Given the description of an element on the screen output the (x, y) to click on. 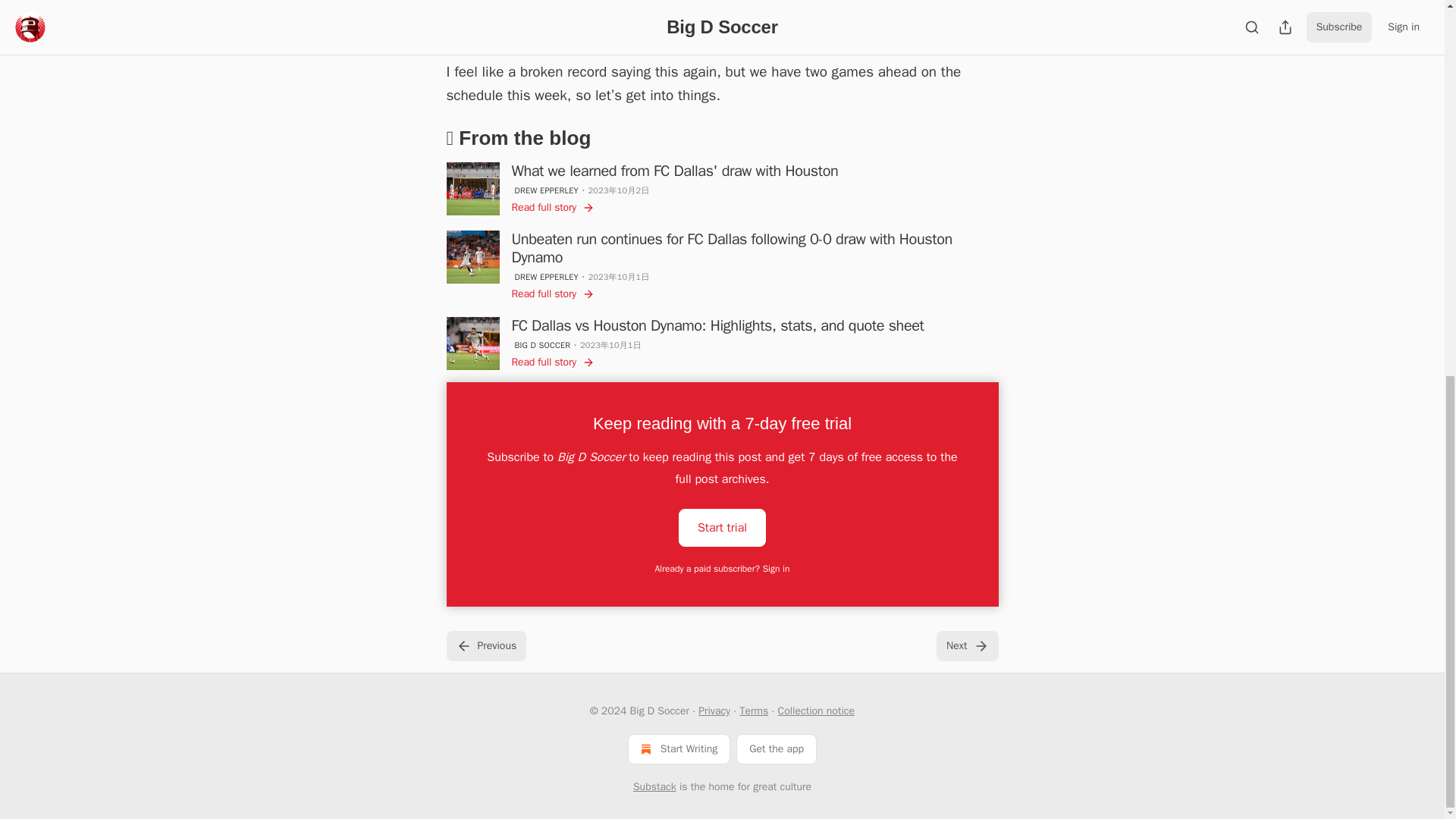
Read full story (552, 207)
DREW EPPERLEY (545, 276)
What we learned from FC Dallas' draw with Houston (674, 171)
Read full story (552, 294)
DREW EPPERLEY (545, 190)
